Given the description of an element on the screen output the (x, y) to click on. 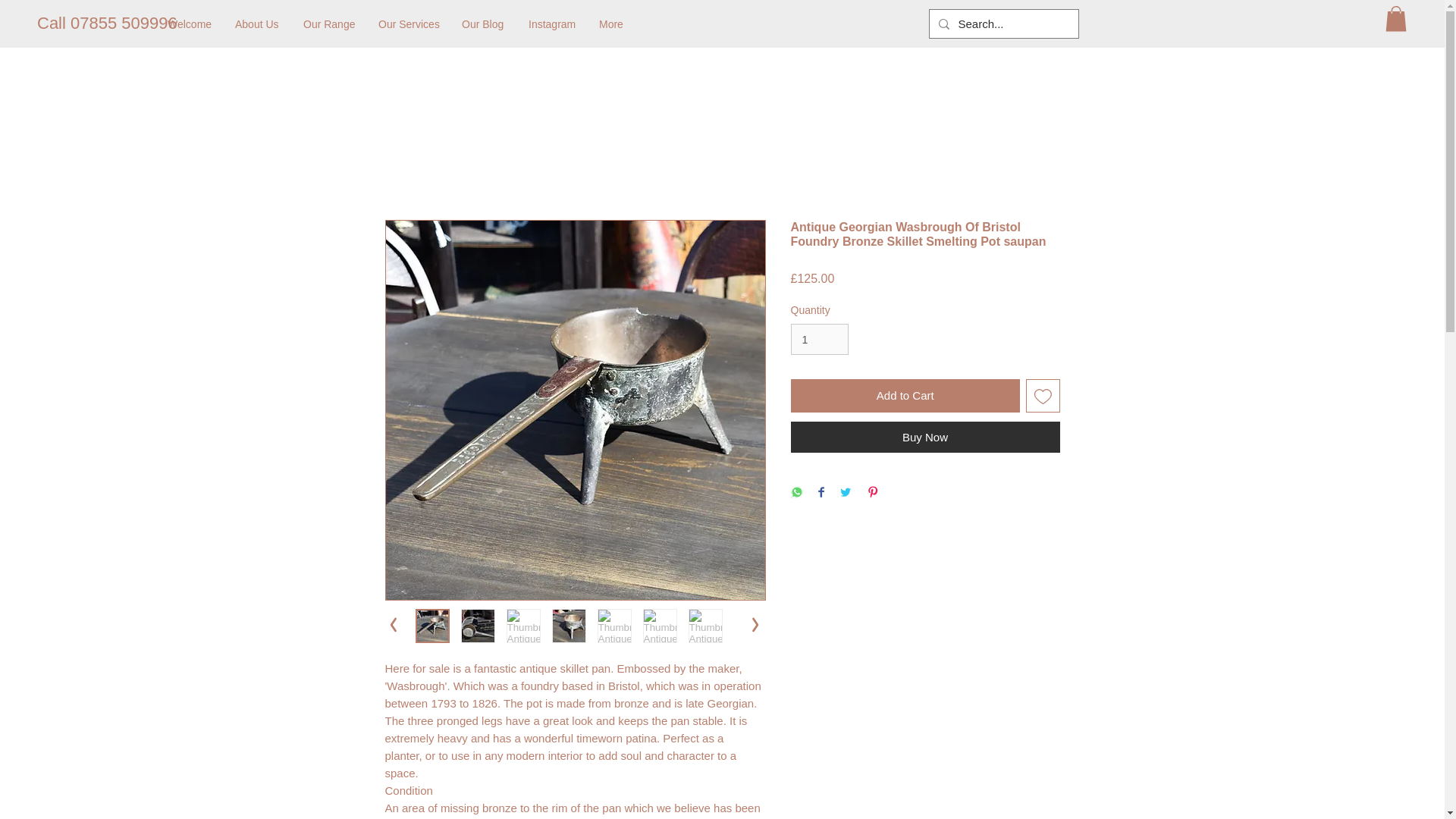
Welcome (189, 24)
Instagram (552, 24)
Call 07855 509996 (107, 23)
Our Range (329, 24)
1 (818, 338)
About Us (258, 24)
Our Blog (482, 24)
